Given the description of an element on the screen output the (x, y) to click on. 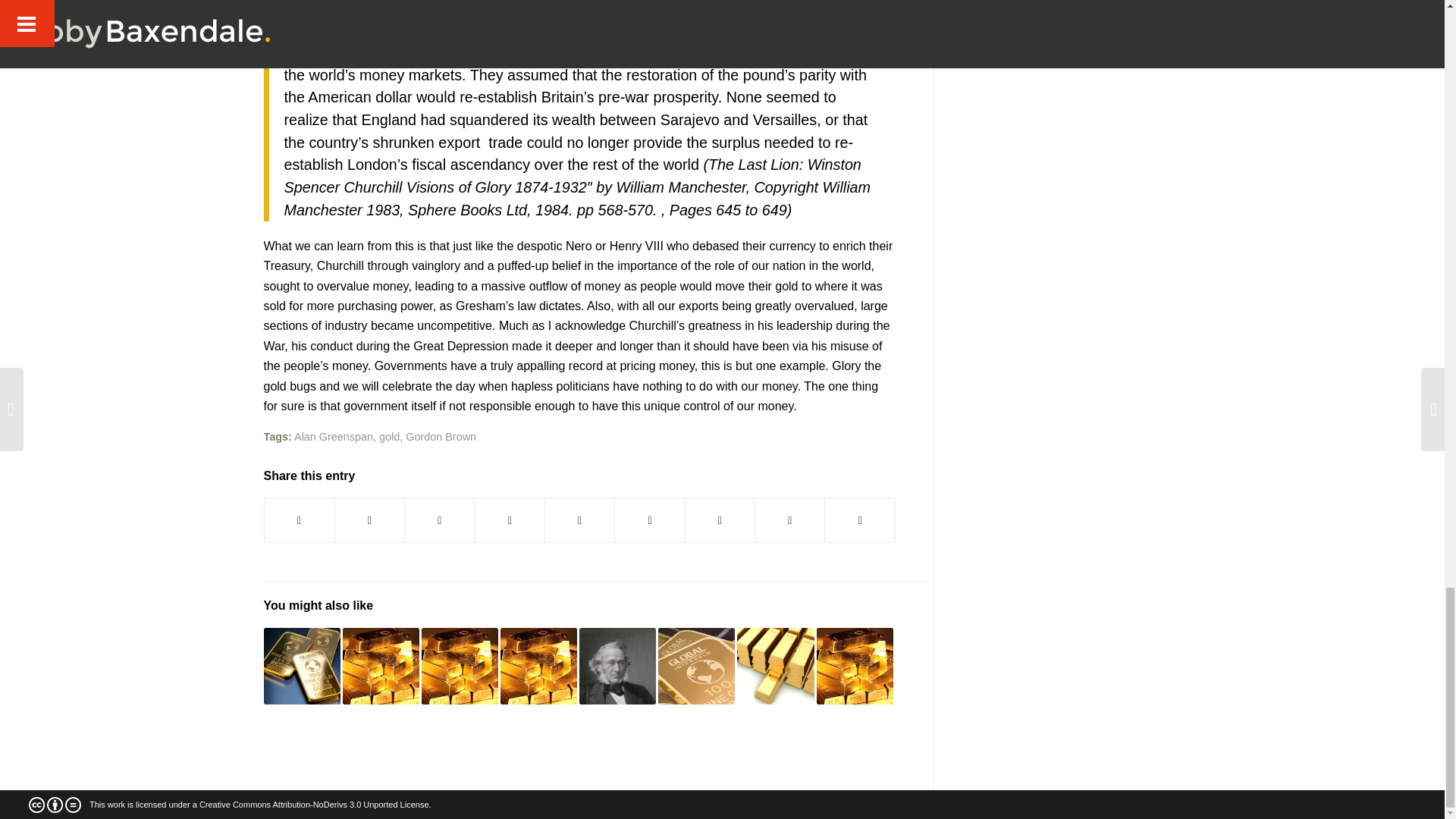
gold (388, 436)
Alan Greenspan (333, 436)
Gordon Brown (441, 436)
